Given the description of an element on the screen output the (x, y) to click on. 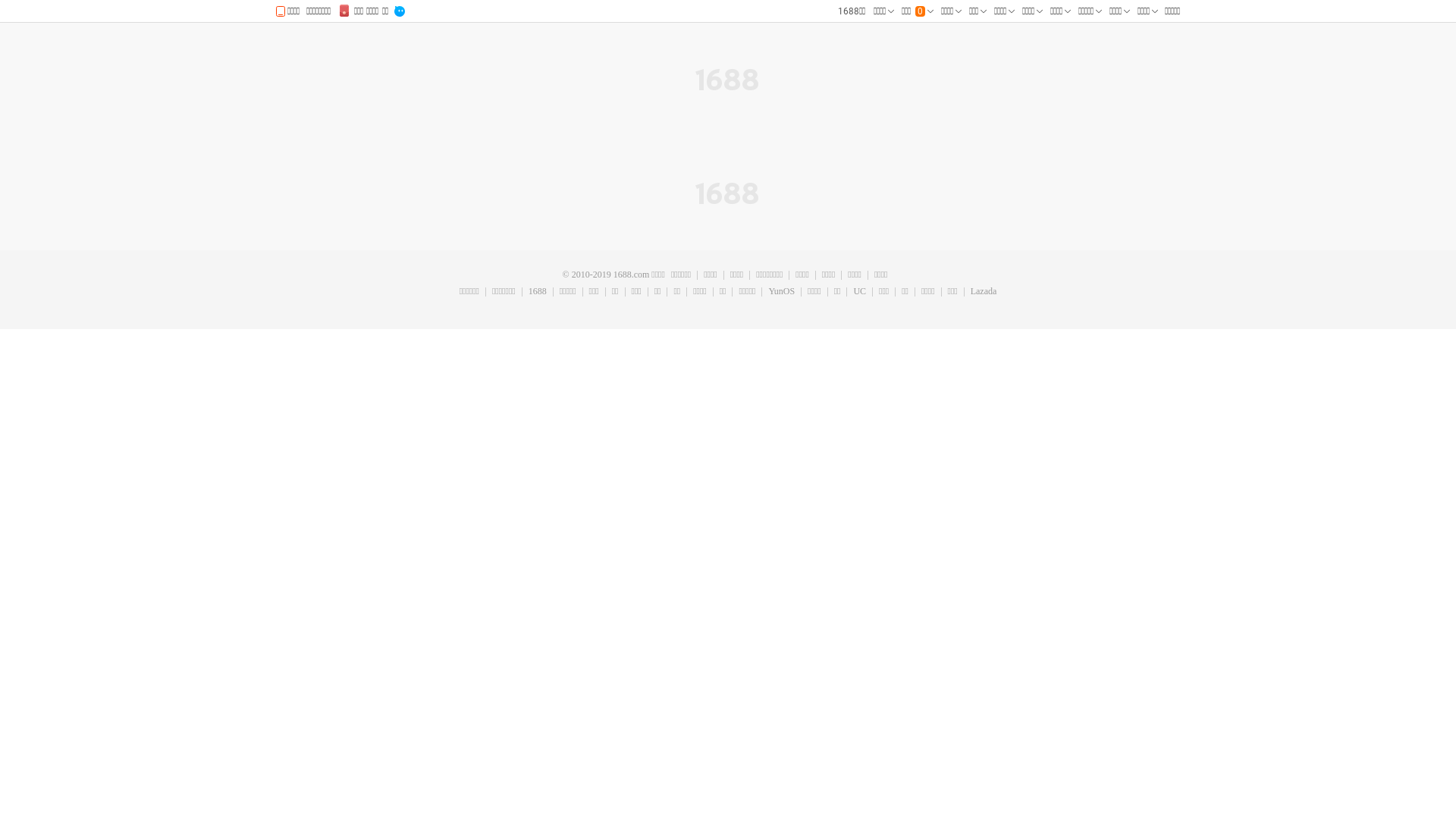
UC Element type: text (859, 291)
Lazada Element type: text (983, 291)
YunOS Element type: text (780, 291)
1688 Element type: text (536, 291)
